Given the description of an element on the screen output the (x, y) to click on. 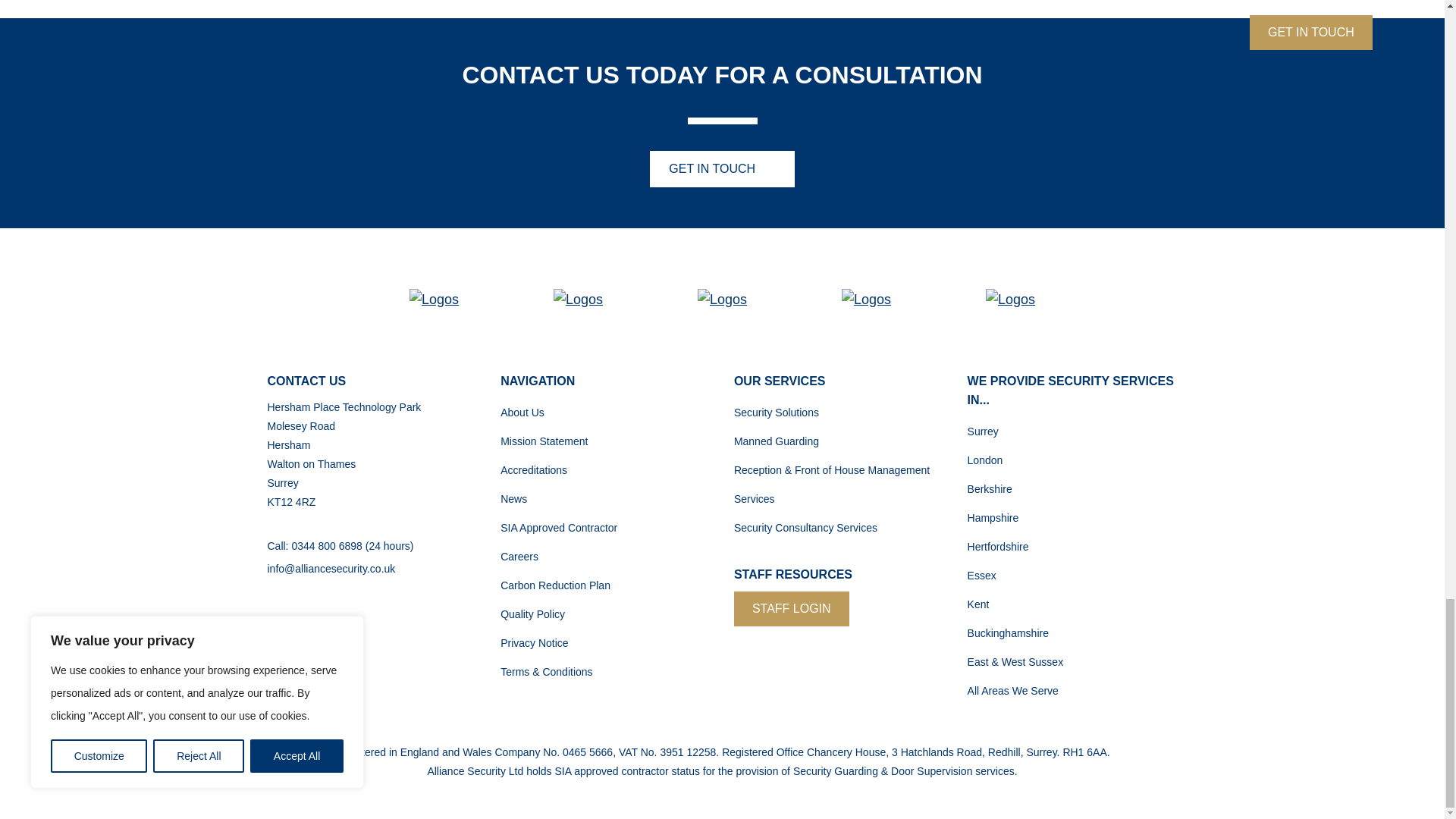
About Us (522, 412)
Accreditations (533, 469)
News (513, 499)
GET IN TOUCH       (721, 168)
Mission Statement (544, 440)
